Given the description of an element on the screen output the (x, y) to click on. 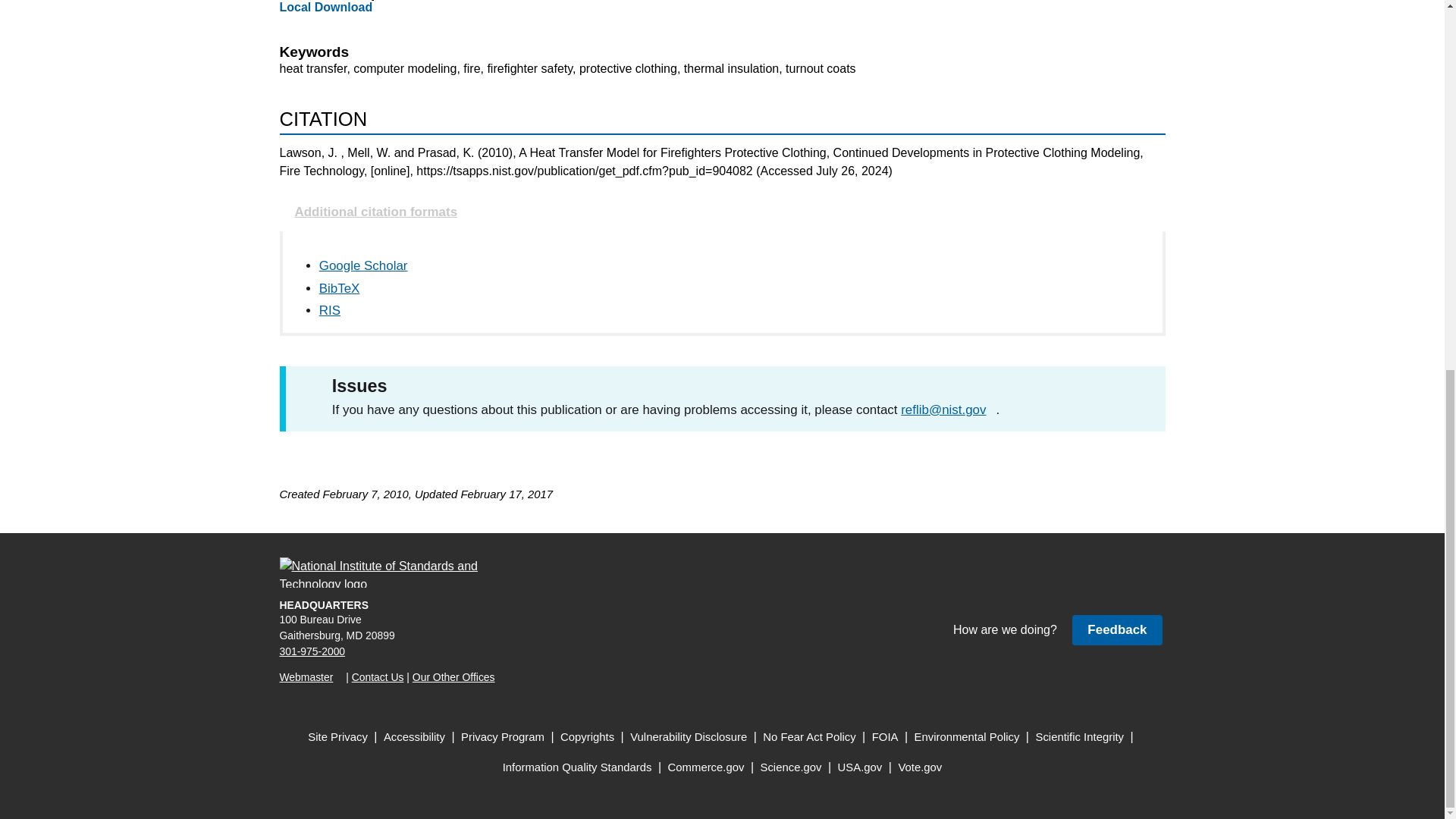
Provide feedback (1116, 629)
National Institute of Standards and Technology (387, 572)
